Given the description of an element on the screen output the (x, y) to click on. 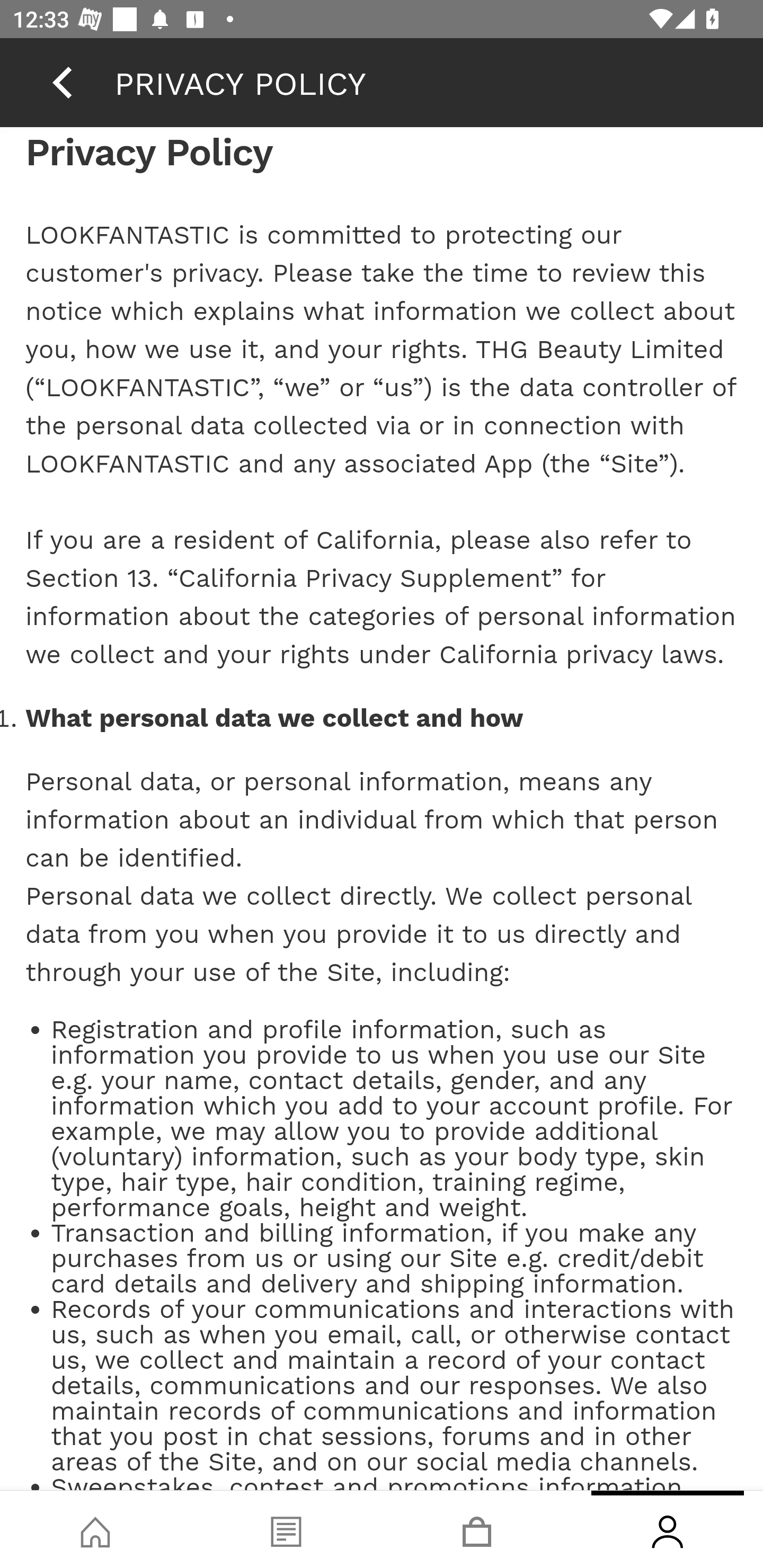
back (61, 82)
Shop, tab, 1 of 4 (95, 1529)
Blog, tab, 2 of 4 (285, 1529)
Basket, tab, 3 of 4 (476, 1529)
Account, tab, 4 of 4 (667, 1529)
